Given the description of an element on the screen output the (x, y) to click on. 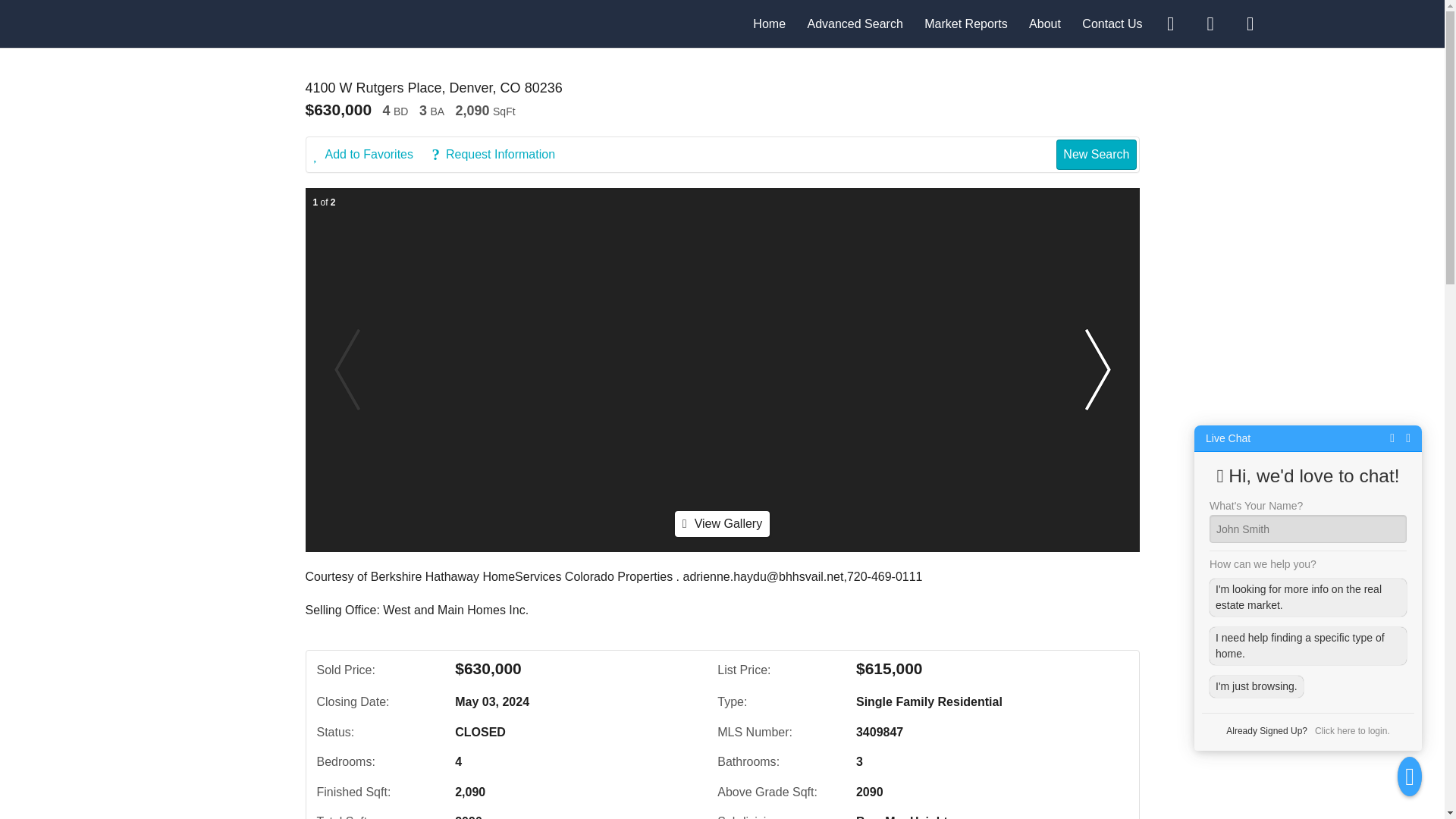
About (1045, 23)
Market Reports (965, 23)
Request Information (500, 154)
View Gallery (722, 522)
Live Chat: undefined (1227, 437)
Home (769, 23)
View Gallery (722, 524)
Add to Favorites (371, 154)
Advanced Search (854, 23)
Contact Us (1111, 23)
New Search (1096, 154)
